Given the description of an element on the screen output the (x, y) to click on. 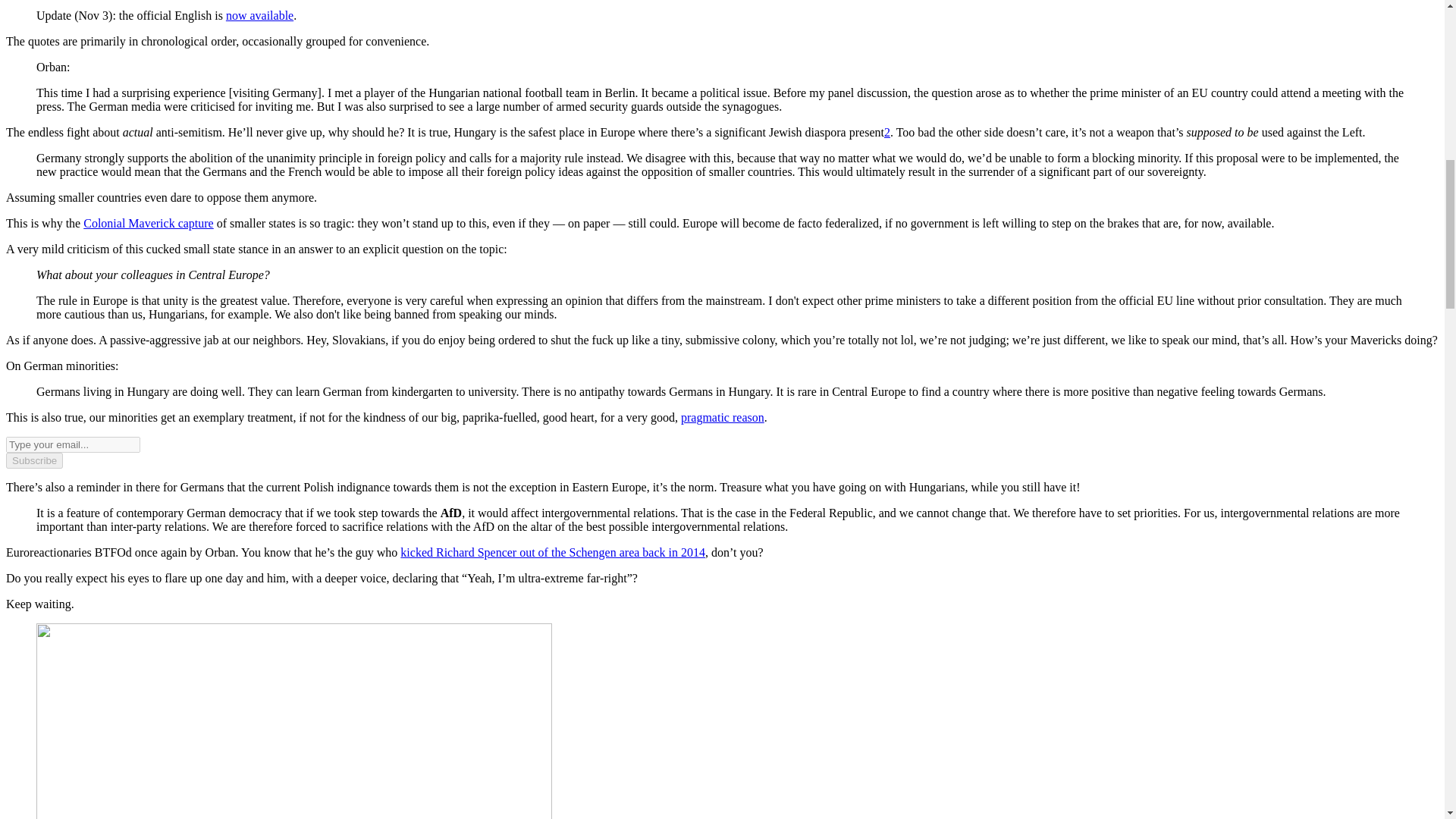
kicked Richard Spencer out of the Schengen area back in 2014 (552, 552)
Colonial Maverick capture (148, 223)
Subscribe (33, 460)
pragmatic reason (722, 417)
now available (259, 15)
